Given the description of an element on the screen output the (x, y) to click on. 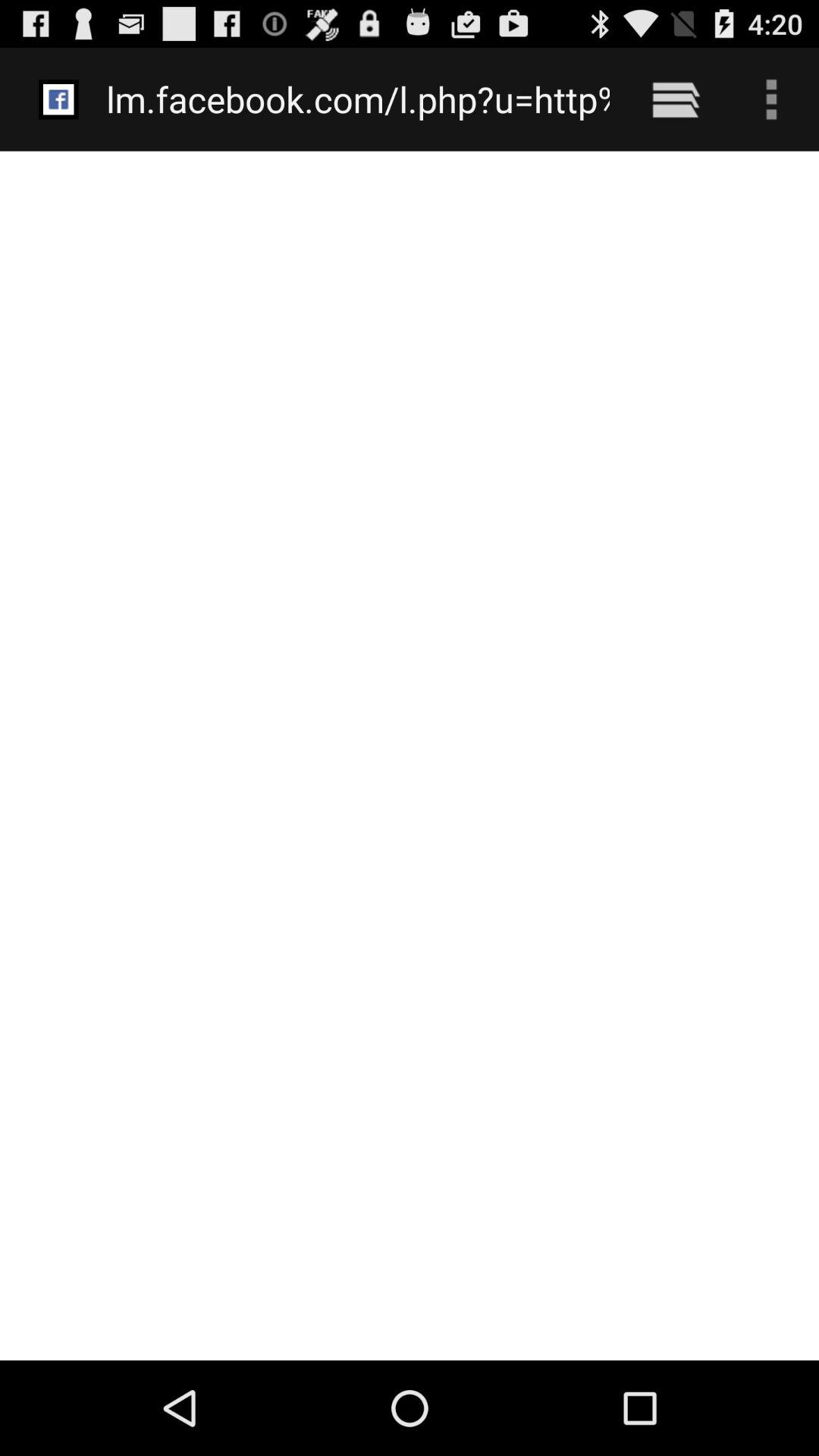
choose the lm facebook com at the top (357, 99)
